Given the description of an element on the screen output the (x, y) to click on. 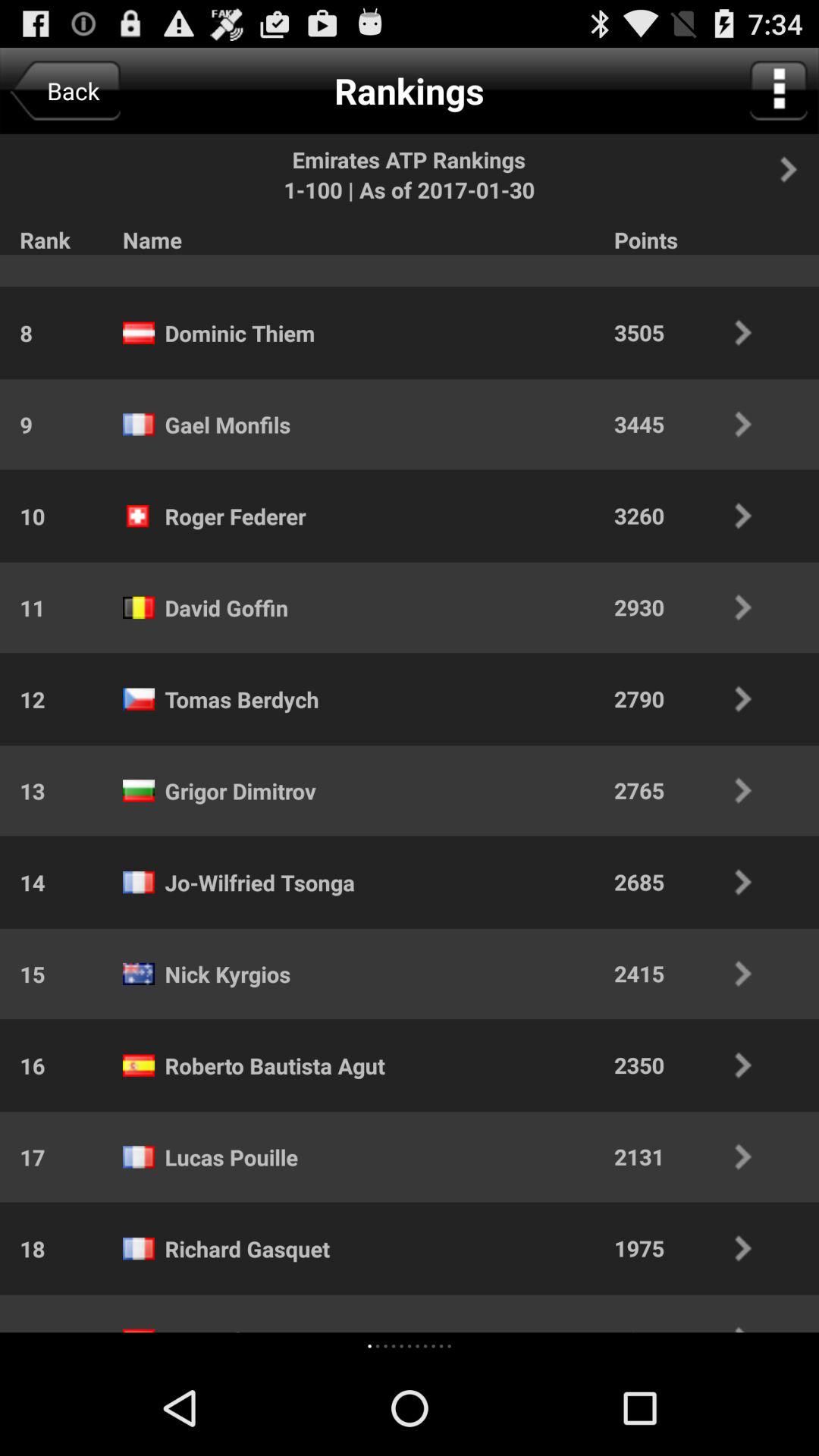
an arrow that point to the right and when pressed move to the next page (797, 169)
